Given the description of an element on the screen output the (x, y) to click on. 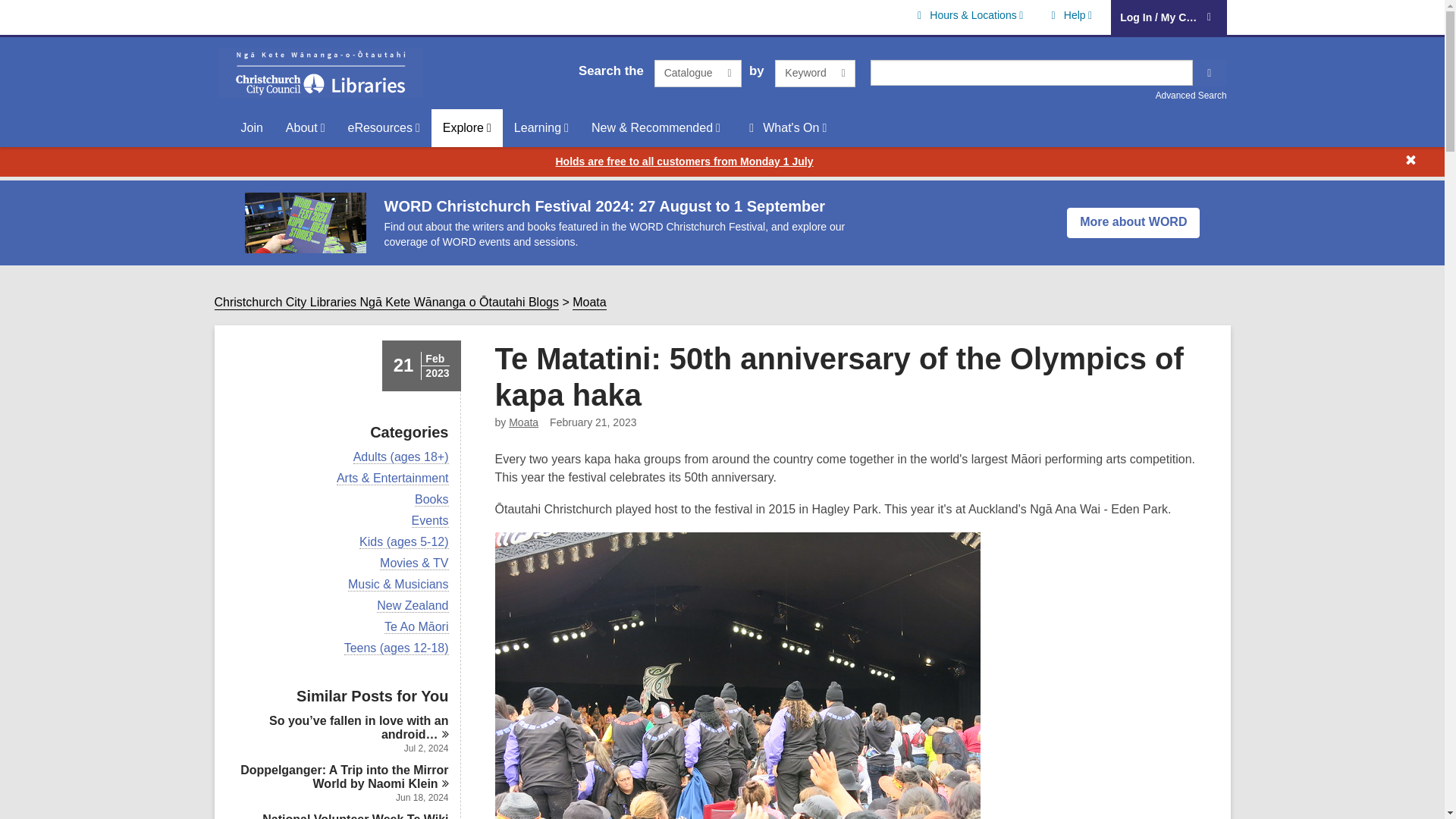
Catalogue (697, 72)
Keyword (815, 72)
